Given the description of an element on the screen output the (x, y) to click on. 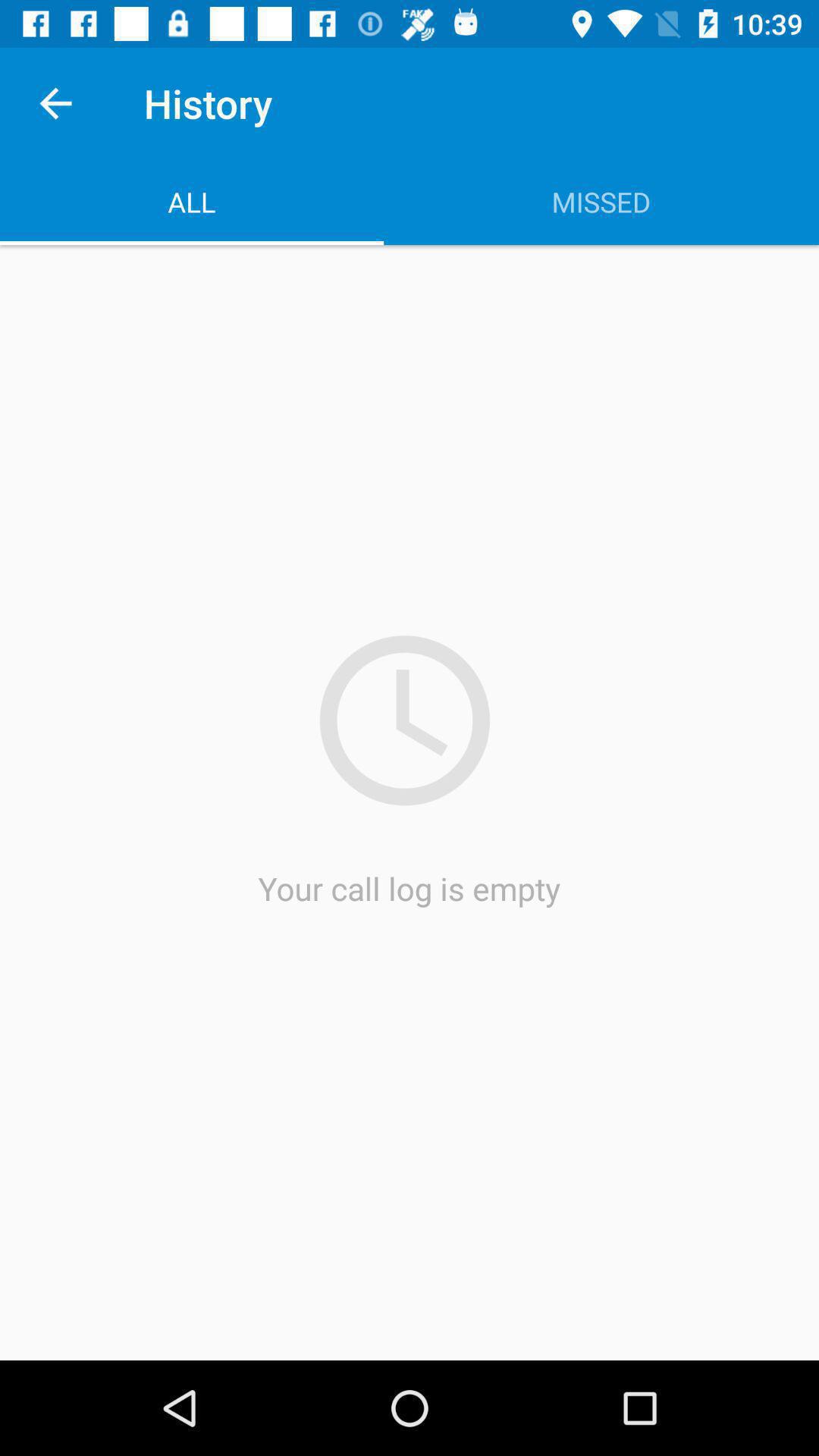
turn on the app next to missed icon (191, 202)
